Given the description of an element on the screen output the (x, y) to click on. 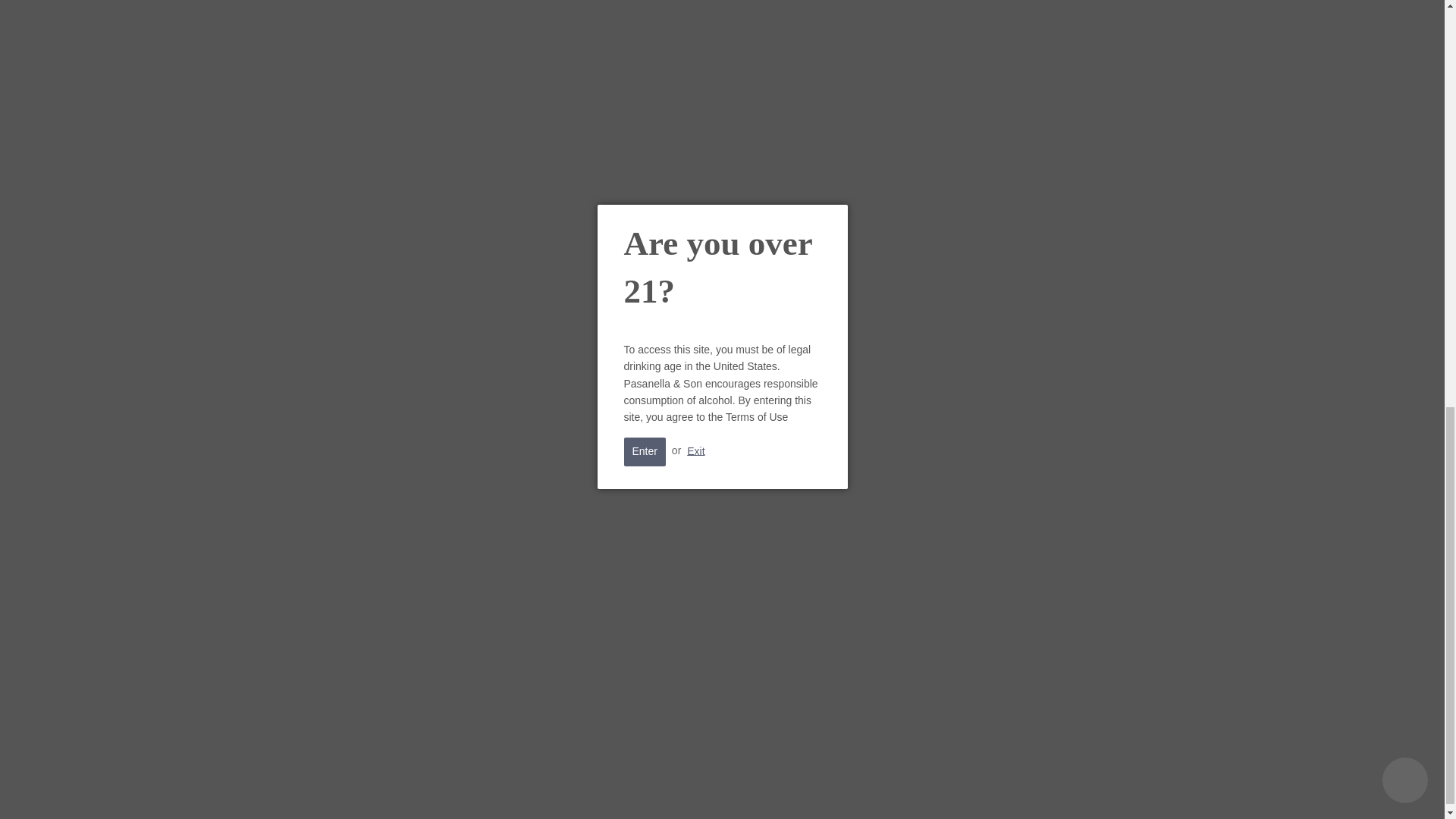
META PAY (679, 790)
PAYPAL (807, 790)
Subscribe (987, 664)
GOOGLE PAY (721, 790)
AMERICAN EXPRESS (507, 790)
SHOP PAY (851, 790)
VISA (937, 790)
MASTERCARD (764, 790)
DISCOVER (635, 790)
APPLE PAY (549, 790)
VENMO (894, 790)
DINERS CLUB (592, 790)
